Given the description of an element on the screen output the (x, y) to click on. 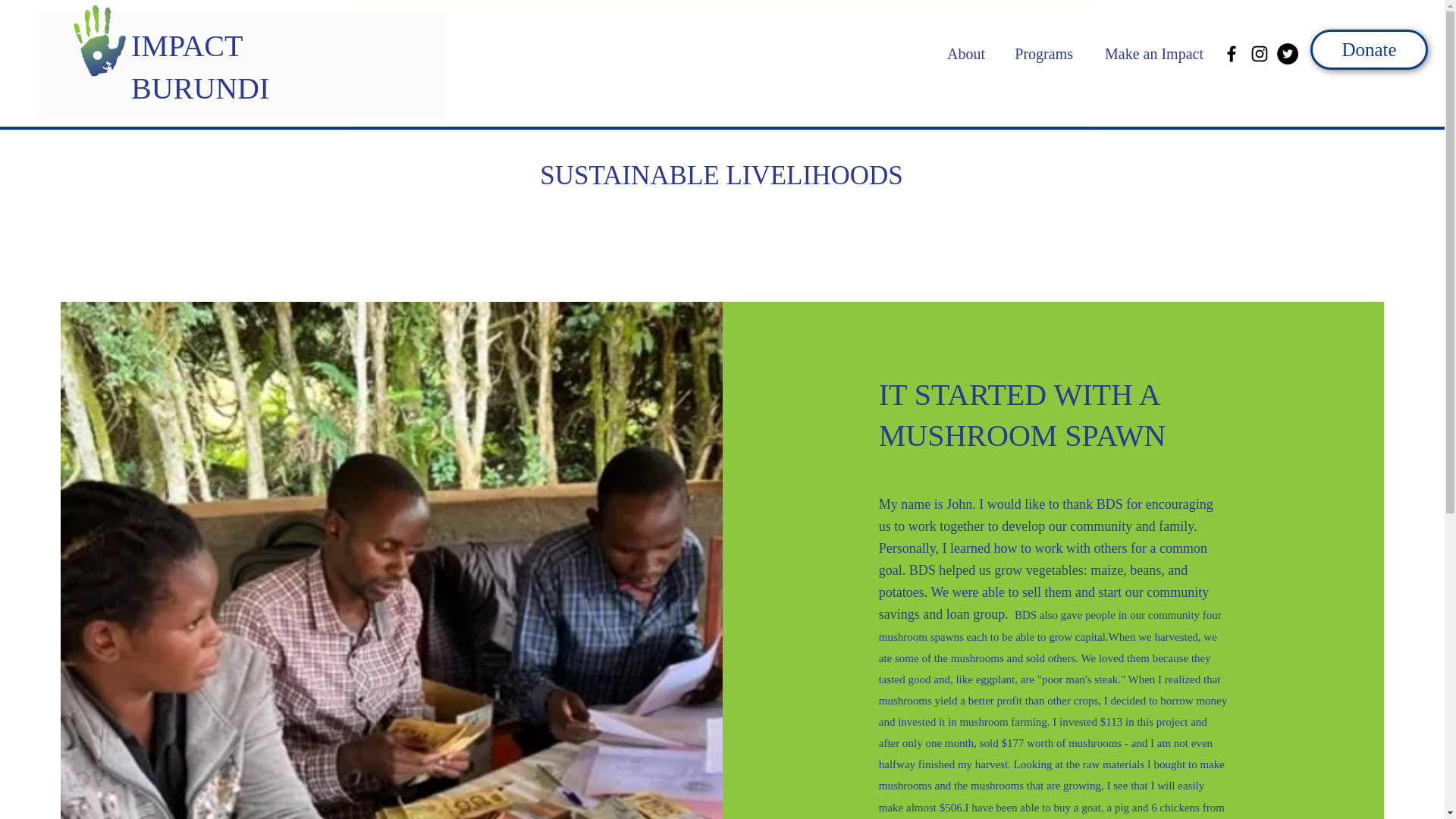
Donate (1369, 49)
IMPACT BURUNDI (200, 66)
Make an Impact (1145, 53)
Programs (1036, 53)
